Given the description of an element on the screen output the (x, y) to click on. 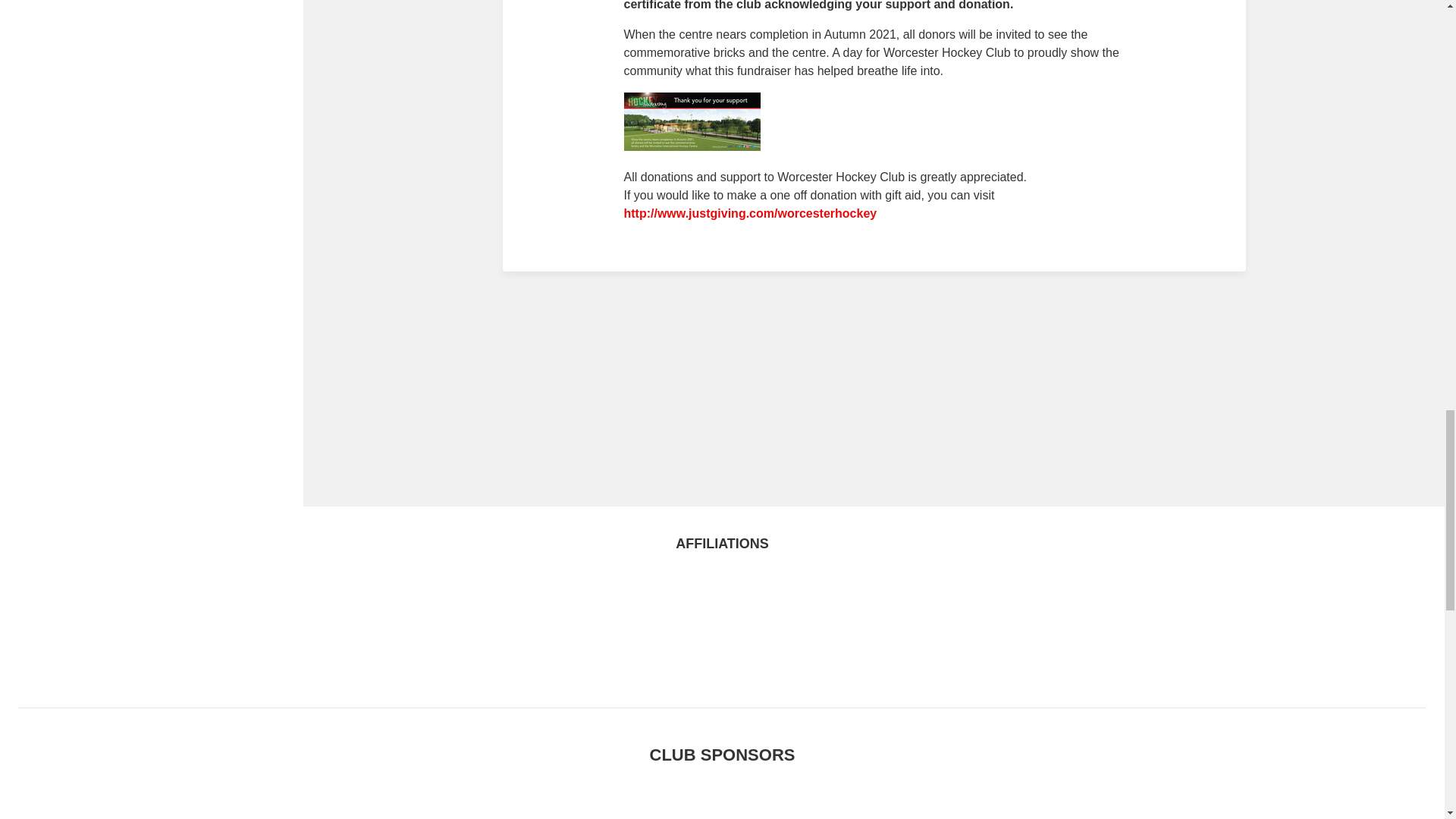
BAB Sponsor - Britannic Place  (1036, 805)
BSB Sponsor - Fit3Sixty (247, 805)
BAB Sponsor - Hills Ford (563, 805)
BAB Sponsor - 2020 Solar PV (722, 805)
BAB Sponsor - Progressive (406, 805)
BAB Sponsor - AES Roofing  (90, 805)
BAB Sponsor - Keysafe  (879, 805)
